Given the description of an element on the screen output the (x, y) to click on. 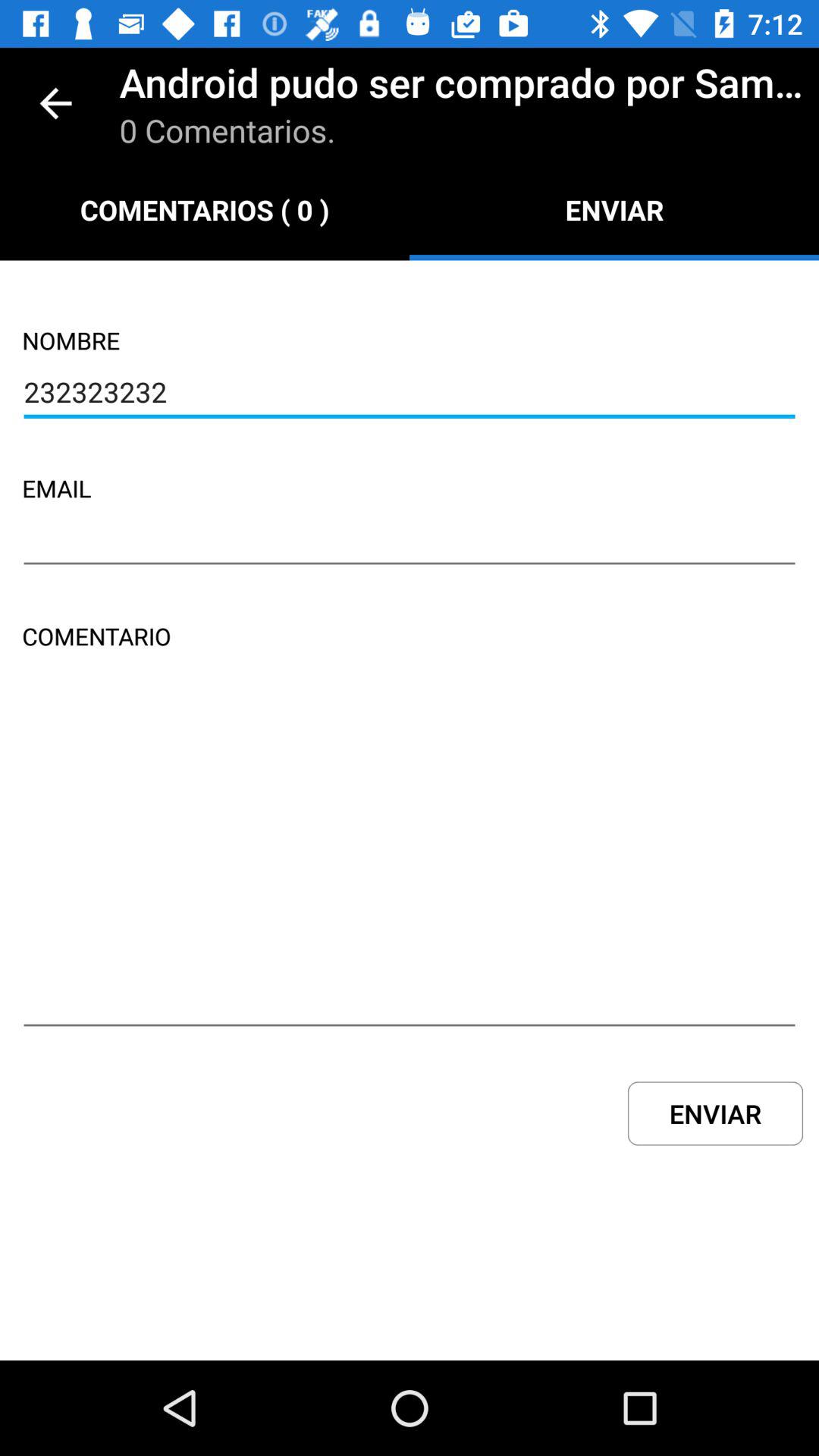
turn off icon to the left of the android pudo ser item (55, 103)
